Given the description of an element on the screen output the (x, y) to click on. 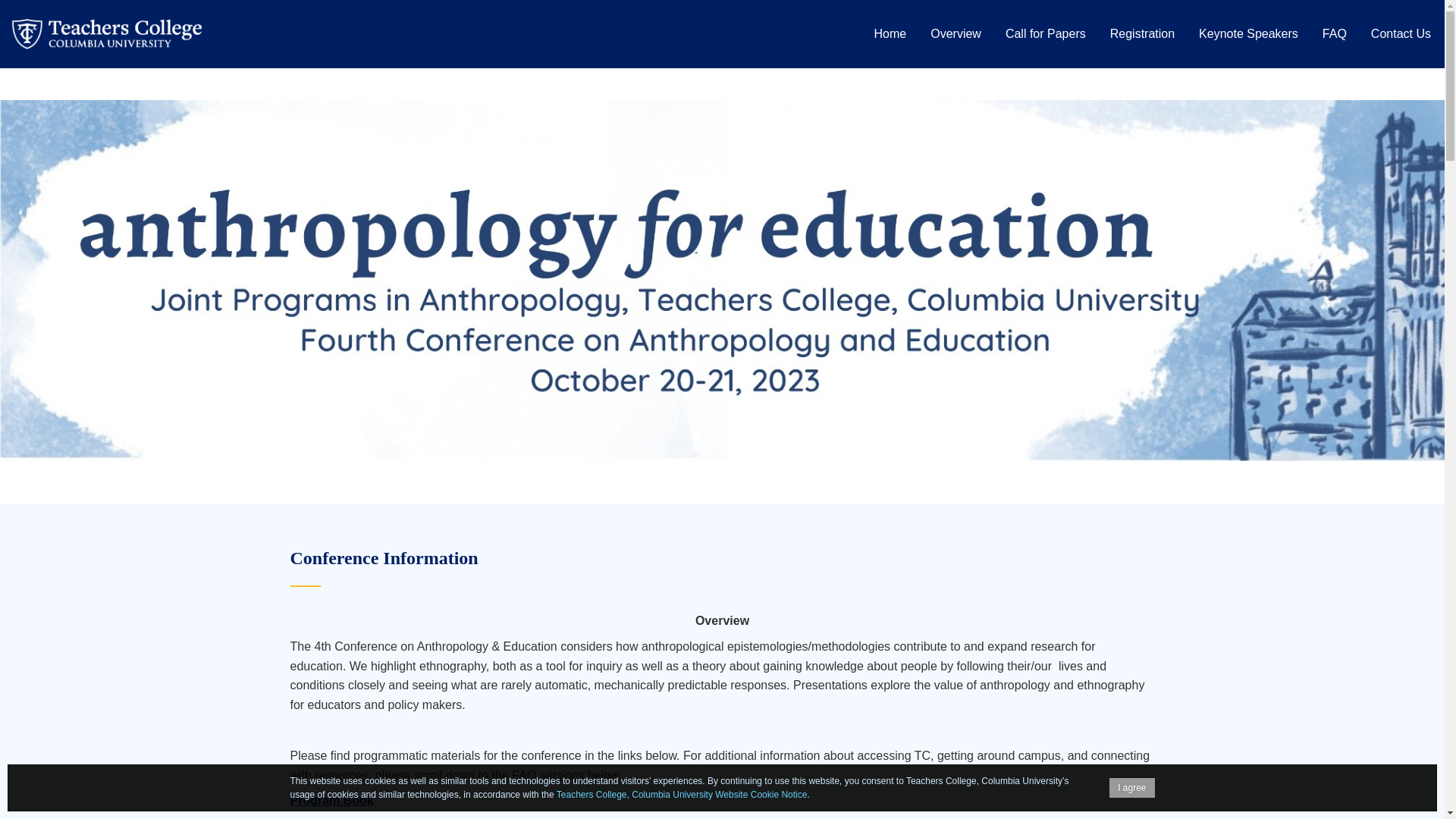
Registration (1141, 33)
Keynote Speakers (1248, 33)
FAQ (1334, 33)
Program Book (330, 799)
Contact Us (1401, 33)
Overview (955, 33)
Home (889, 33)
Call for Papers (1045, 33)
